Given the description of an element on the screen output the (x, y) to click on. 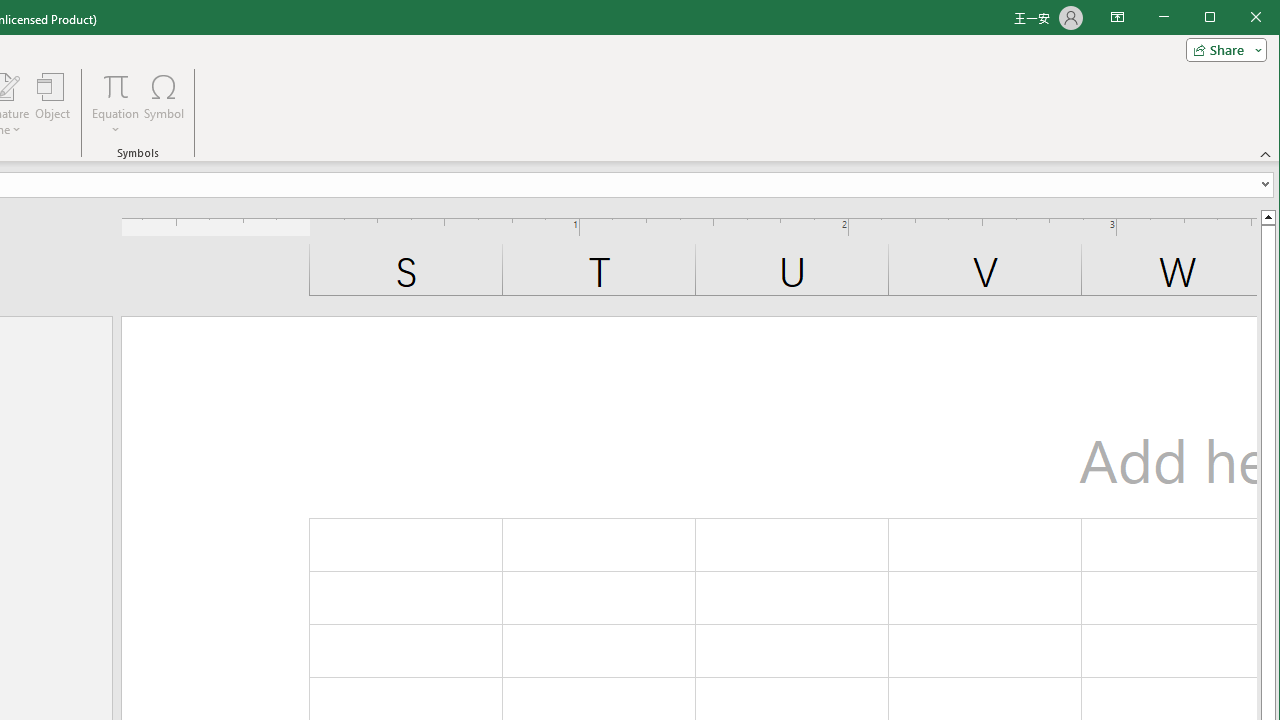
Maximize (1238, 18)
Equation (115, 104)
Symbol... (164, 104)
Equation (115, 86)
Object... (53, 104)
